Given the description of an element on the screen output the (x, y) to click on. 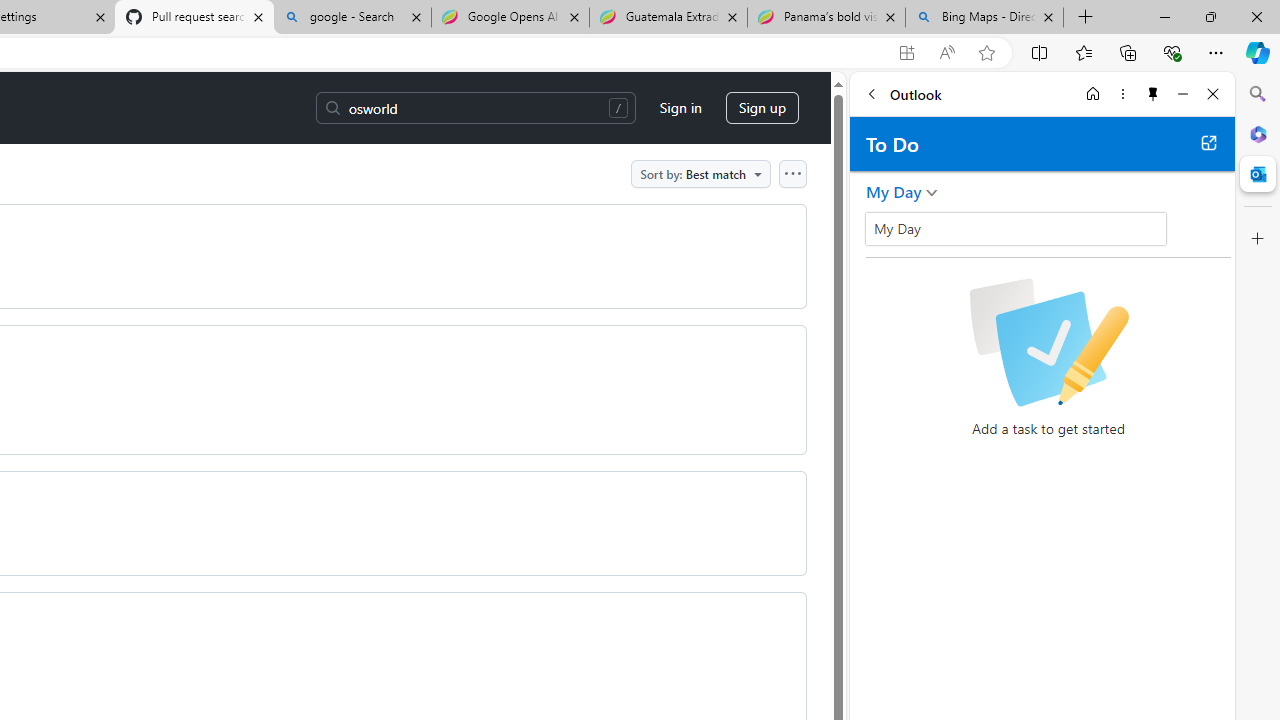
Add a task (1065, 235)
My Day (1016, 228)
Sign in (680, 107)
Unpin side pane (1153, 93)
Microsoft 365 (1258, 133)
Add a task (881, 235)
